Given the description of an element on the screen output the (x, y) to click on. 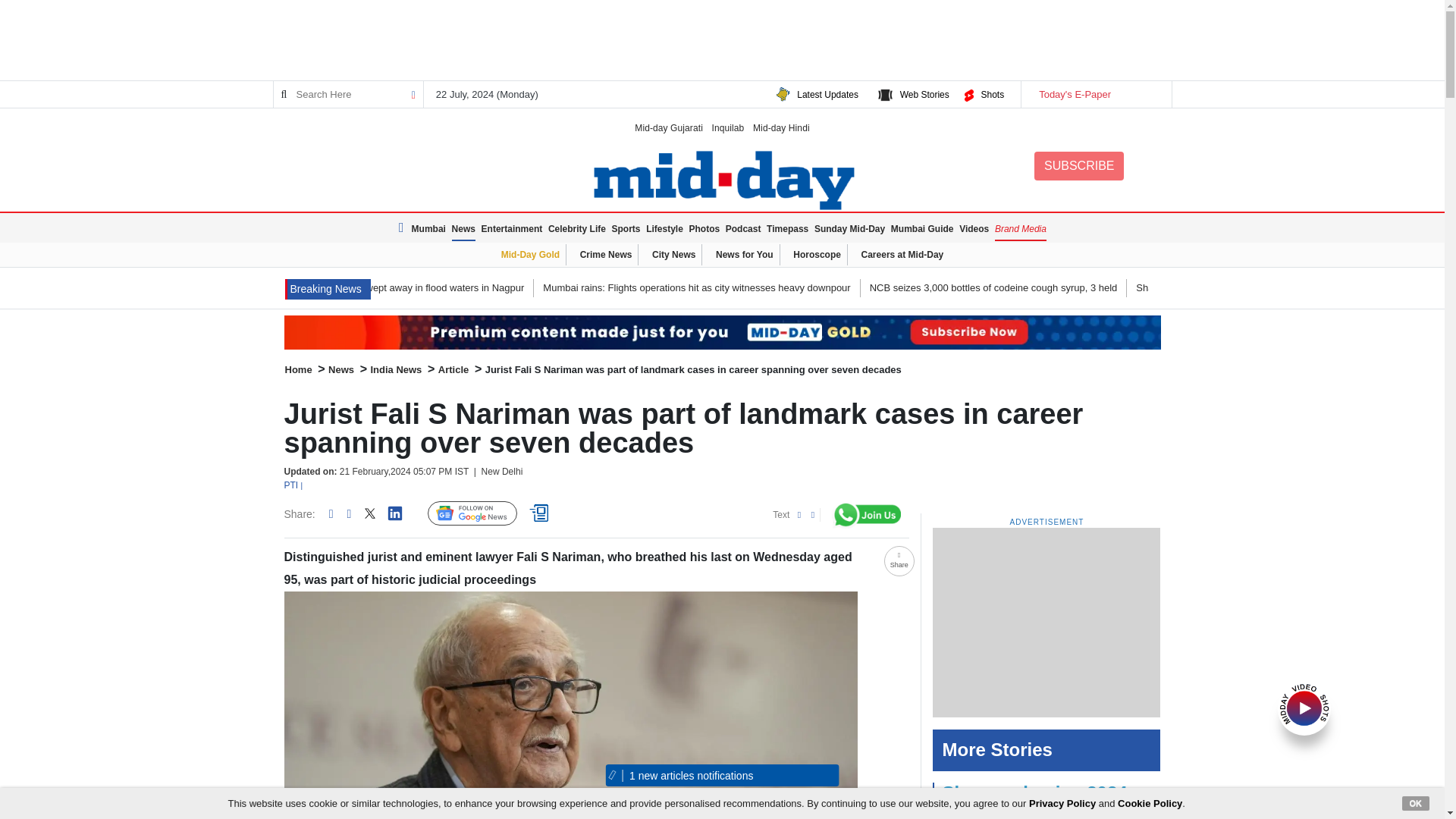
Inquilab (728, 127)
Subscription (721, 332)
Mid-day Gujarati (668, 127)
Mid-day Hindi (780, 127)
Quick Reads (541, 513)
Web Stories (924, 94)
SUBSCRIBE (1078, 165)
Latest Updates (827, 94)
Today's E-Paper (1095, 94)
Latest News (403, 227)
Latest News (328, 289)
Midday Shot Videos (1304, 706)
Shots (991, 94)
